Given the description of an element on the screen output the (x, y) to click on. 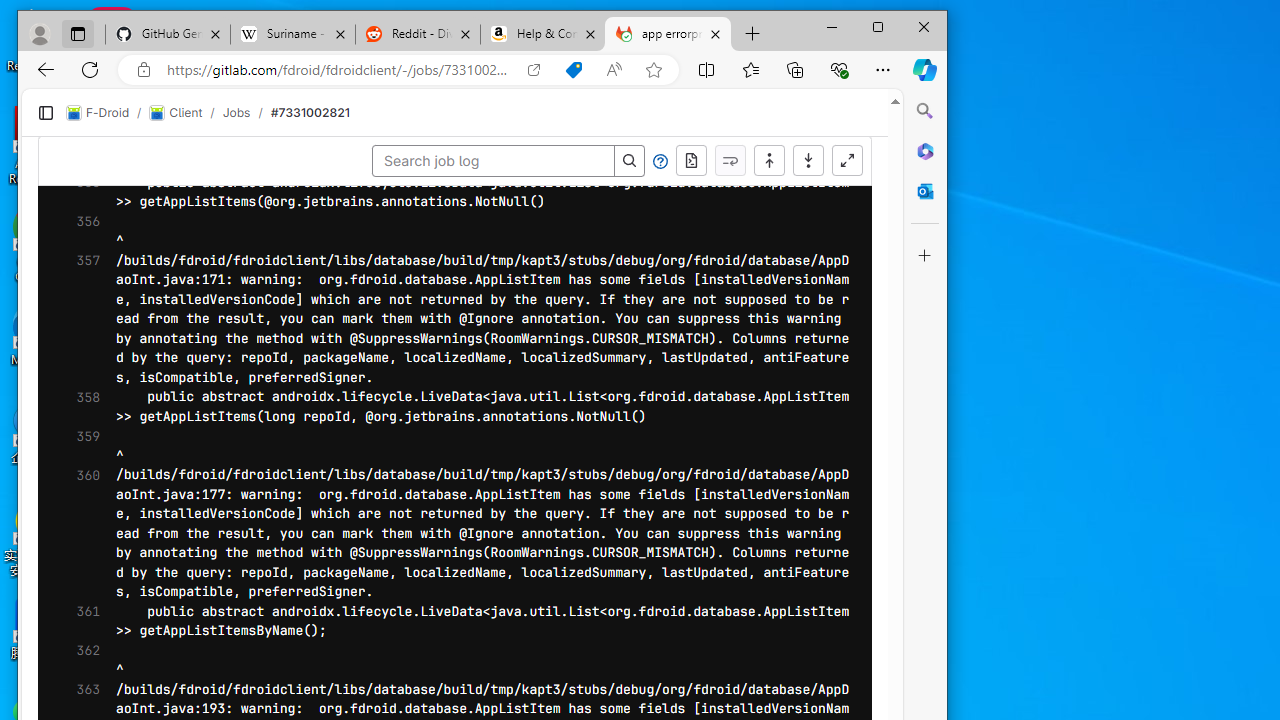
356 (82, 231)
Primary navigation sidebar (45, 112)
Suriname - Wikipedia (292, 34)
Scroll to bottom (808, 160)
Client (175, 112)
Maximize (878, 26)
F-Droid (98, 112)
